Given the description of an element on the screen output the (x, y) to click on. 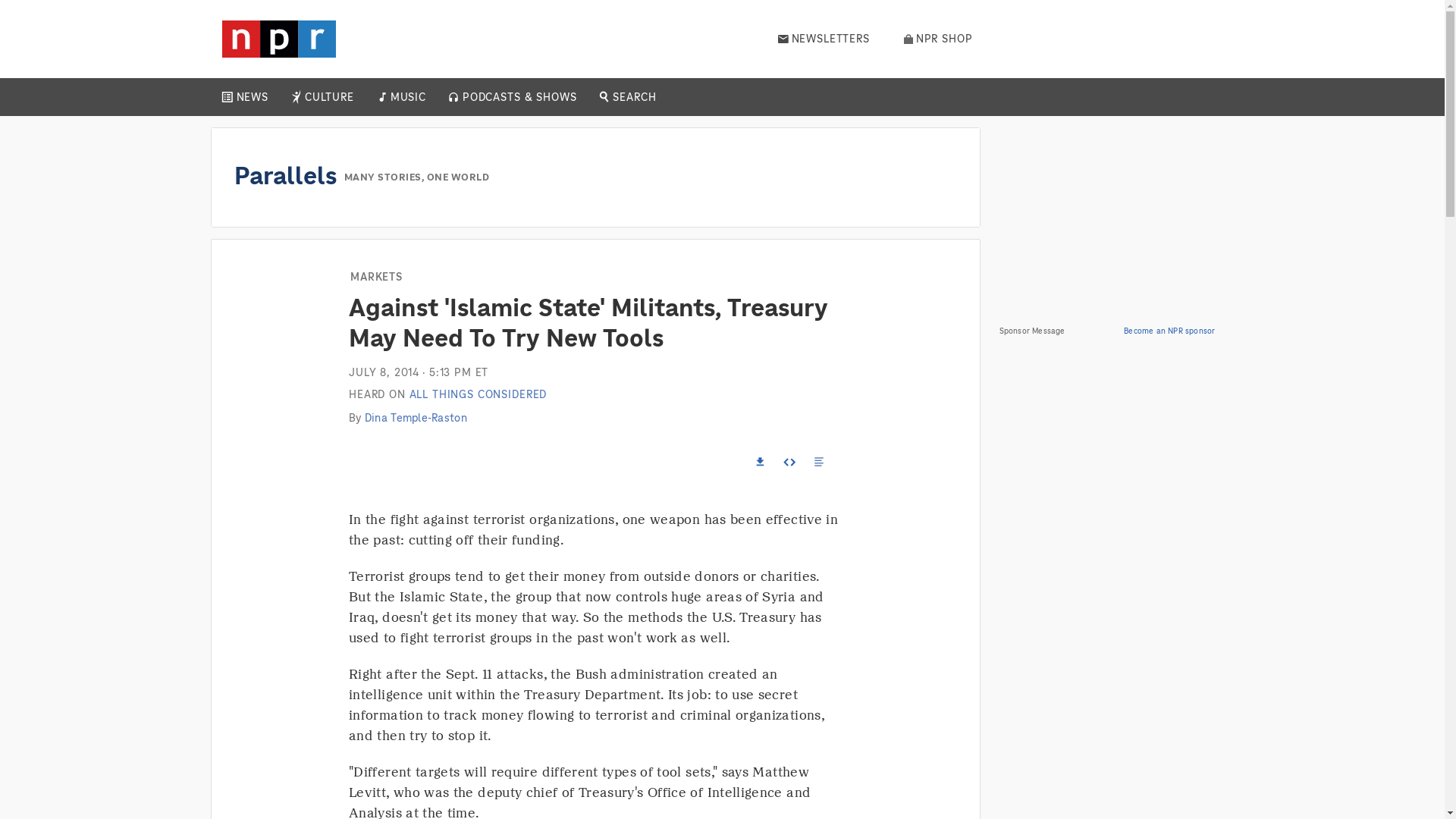
MUSIC (407, 96)
NPR SHOP (938, 38)
NEWSLETTERS (823, 38)
NEWS (251, 96)
CULTURE (328, 96)
